Given the description of an element on the screen output the (x, y) to click on. 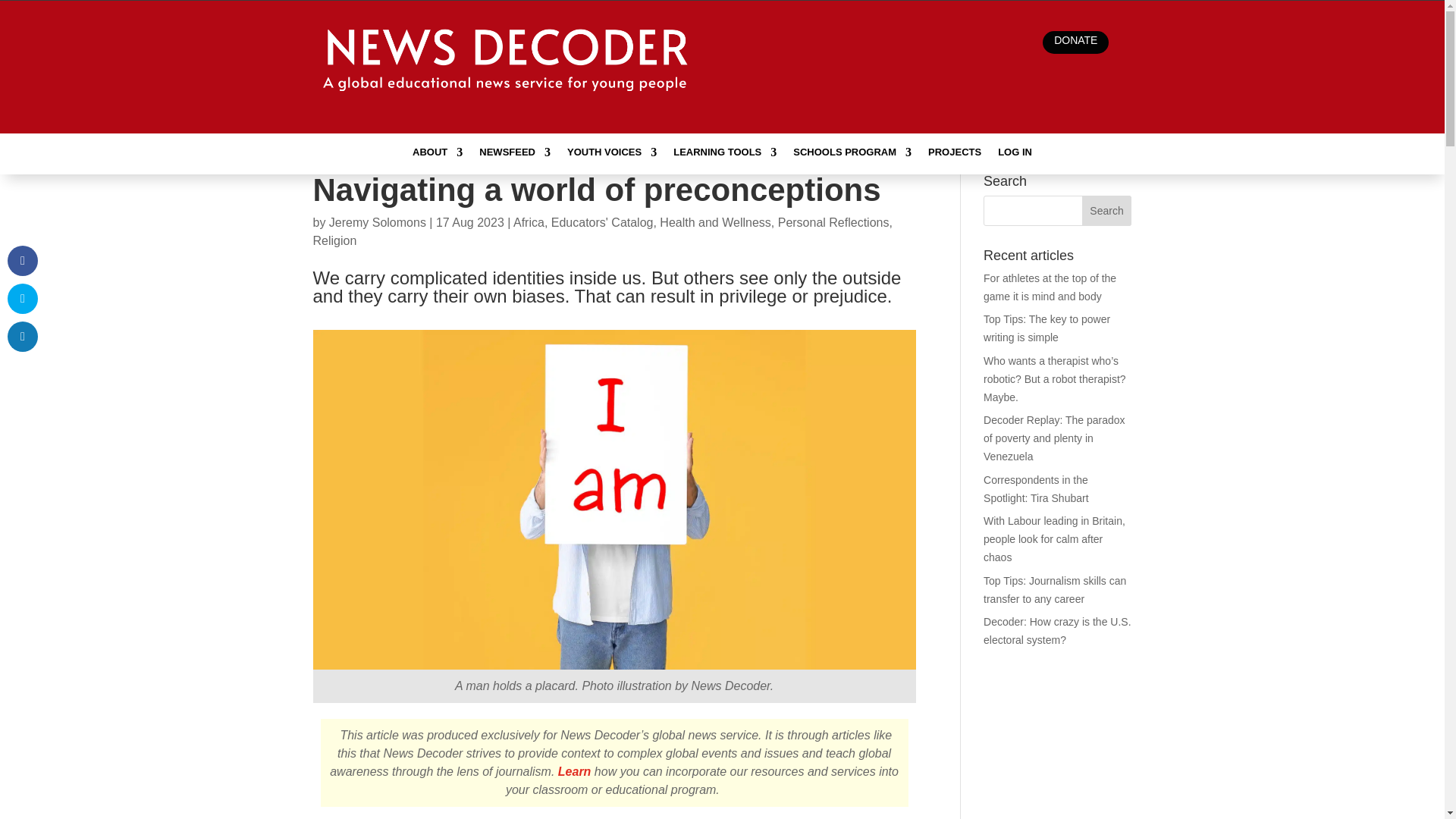
LEARNING TOOLS (724, 155)
Posts by Jeremy Solomons (377, 222)
YOUTH VOICES (611, 155)
NEWSFEED (514, 155)
DONATE (1075, 42)
logo fichier source news decoder 02 (508, 67)
ABOUT (437, 155)
Search (1106, 210)
